Given the description of an element on the screen output the (x, y) to click on. 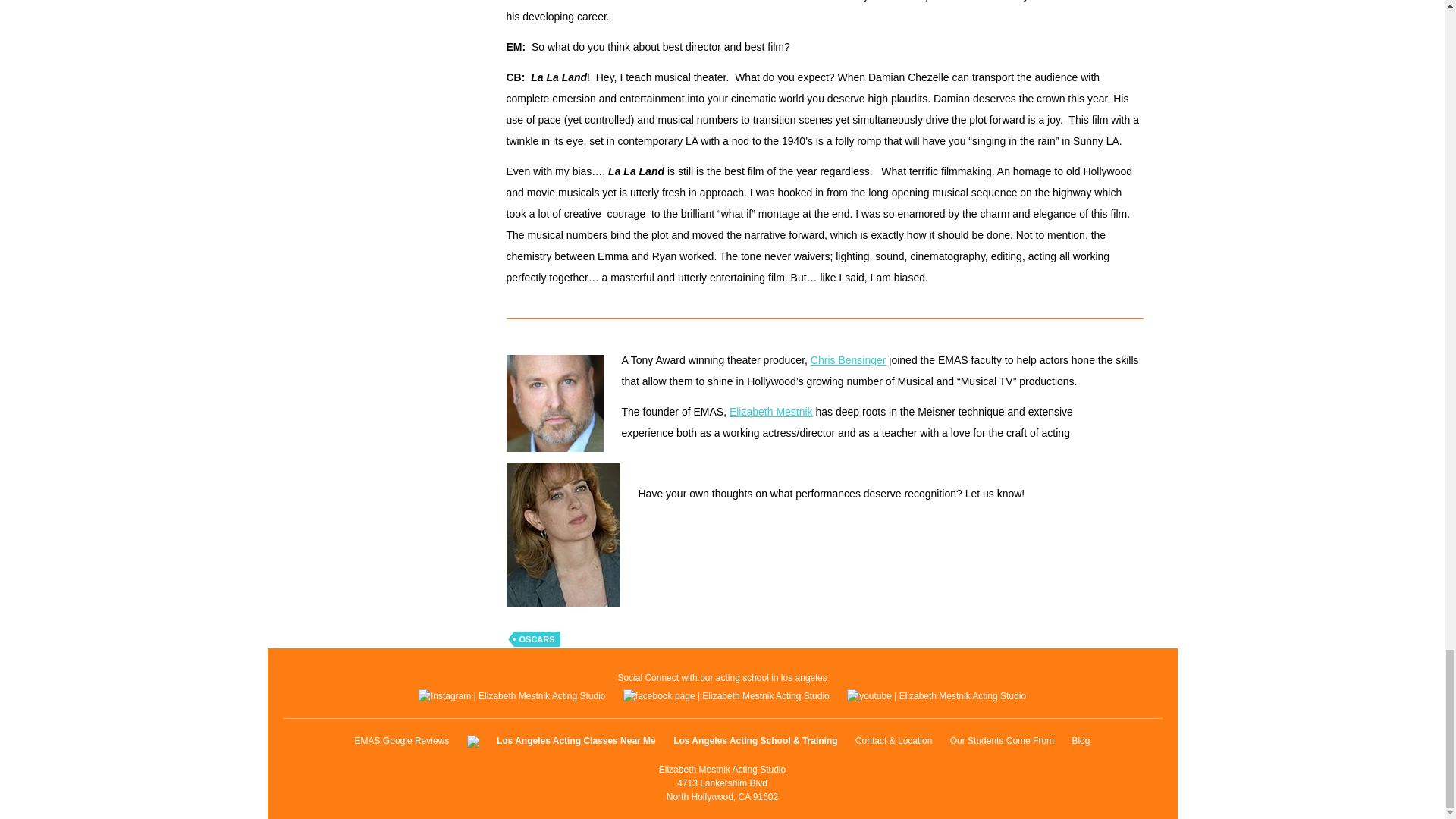
Chris Bensinger (848, 359)
Elizabeth Mestnik (770, 411)
Chris Bensinger (848, 359)
Elizabeth Mestnik (770, 411)
